Given the description of an element on the screen output the (x, y) to click on. 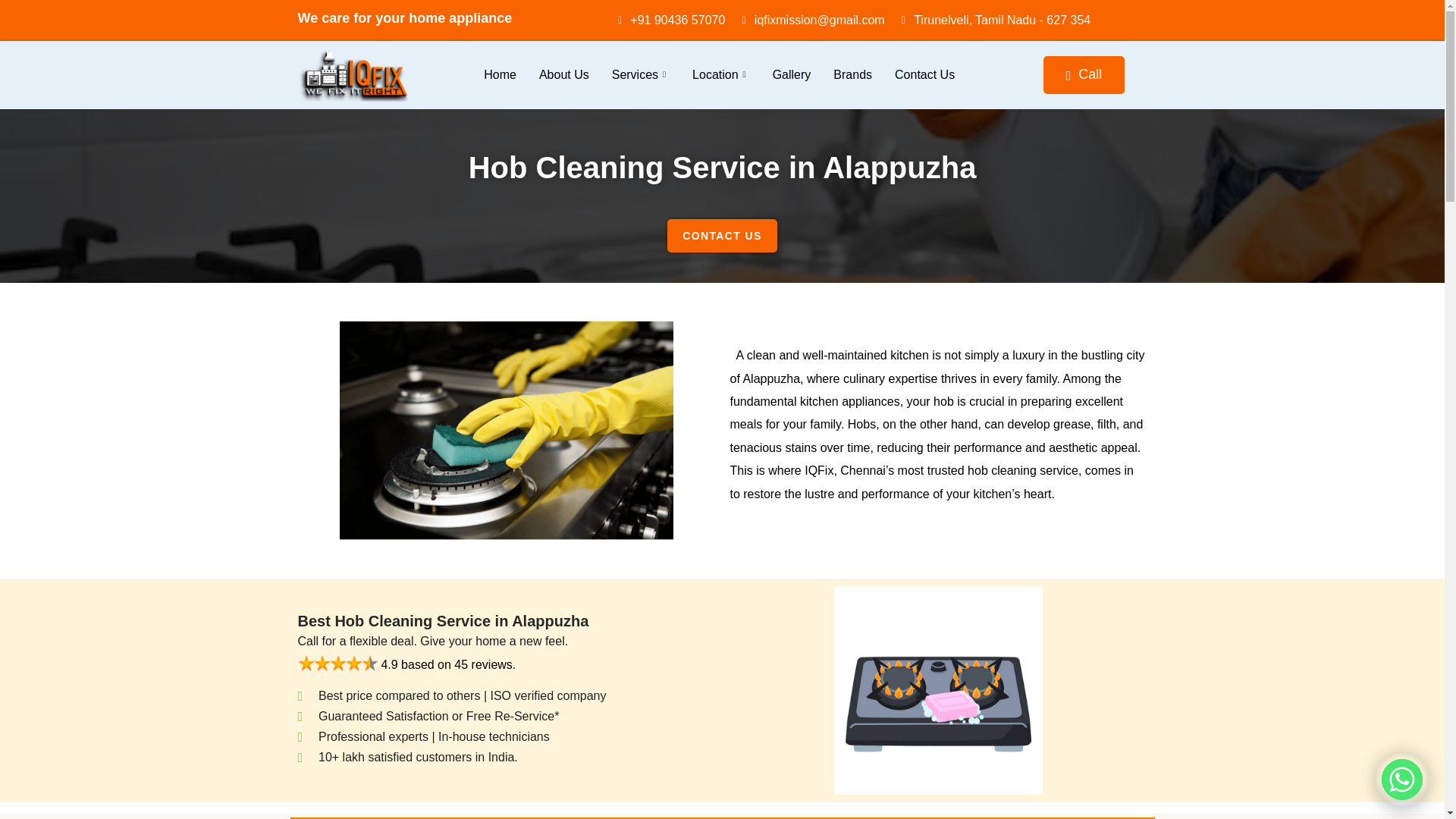
CONTACT US (721, 235)
Call (1084, 74)
Location (721, 75)
title (337, 662)
Services (640, 75)
Home (499, 75)
Brands (852, 75)
About Us (563, 75)
Contact Us (924, 75)
Gallery (791, 75)
